Given the description of an element on the screen output the (x, y) to click on. 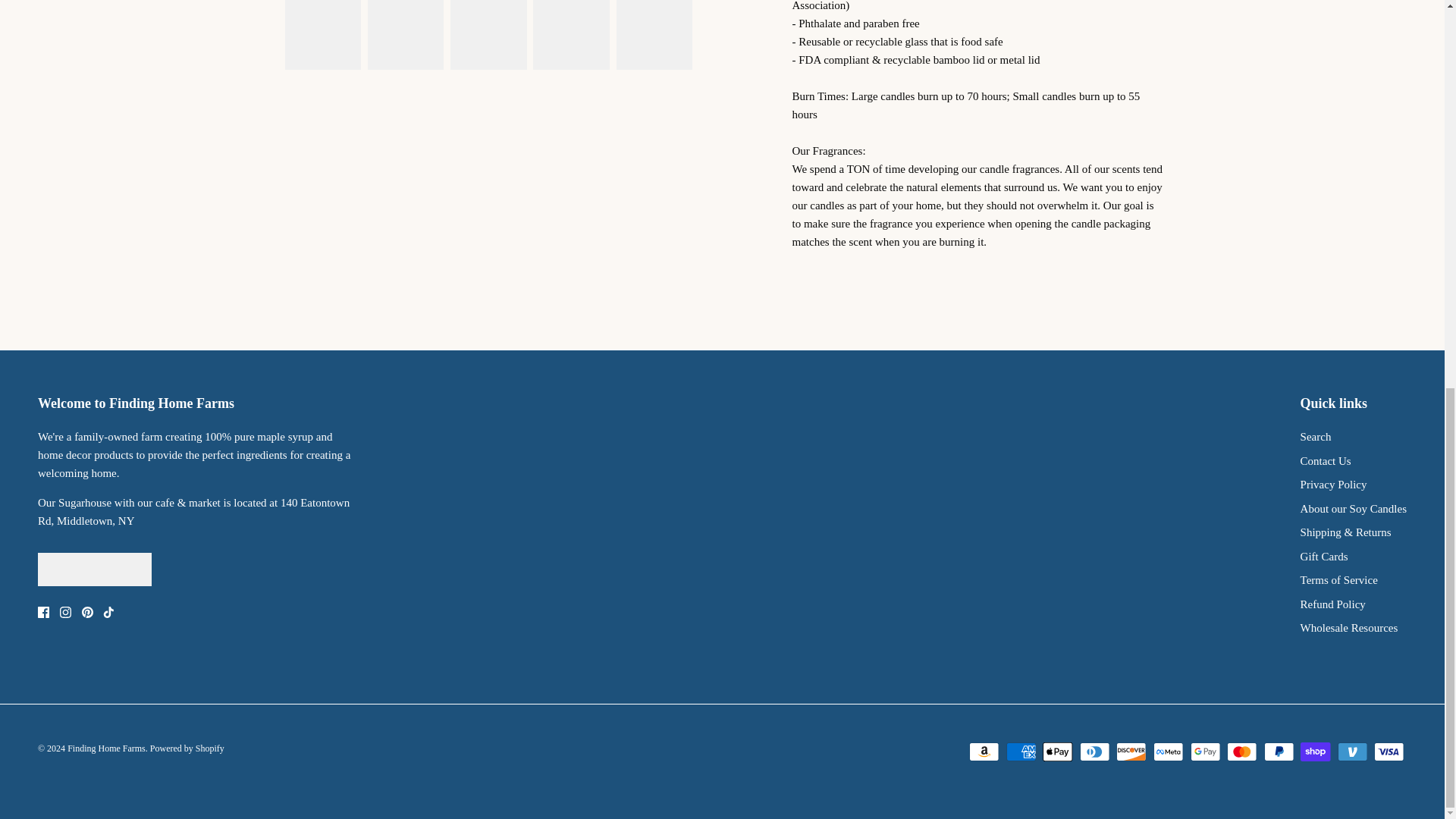
Amazon (983, 751)
Facebook (43, 612)
Pinterest (87, 612)
Diners Club (1094, 751)
American Express (1021, 751)
Apple Pay (1057, 751)
Instagram (65, 612)
